Given the description of an element on the screen output the (x, y) to click on. 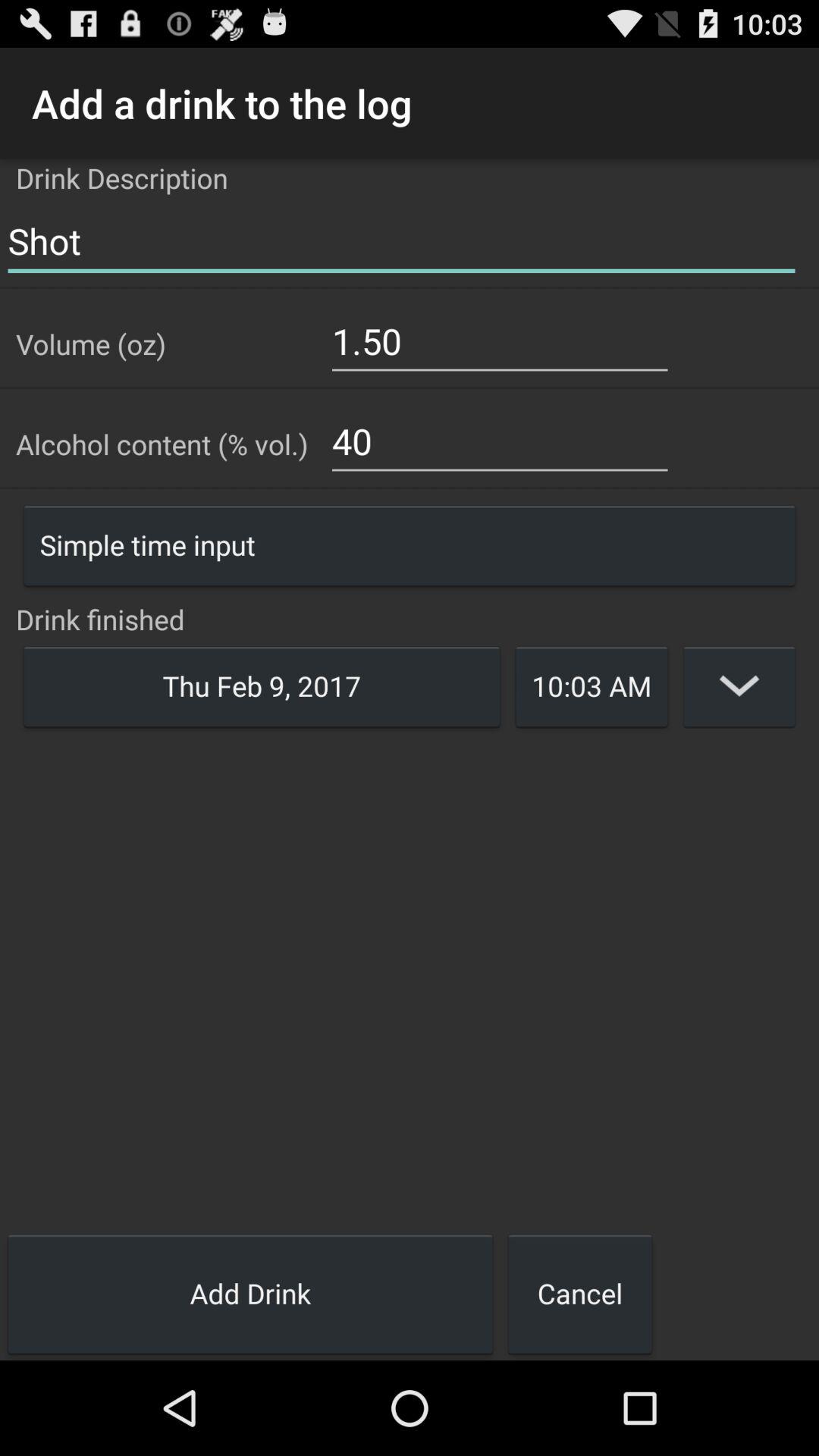
drop down button (739, 685)
